Given the description of an element on the screen output the (x, y) to click on. 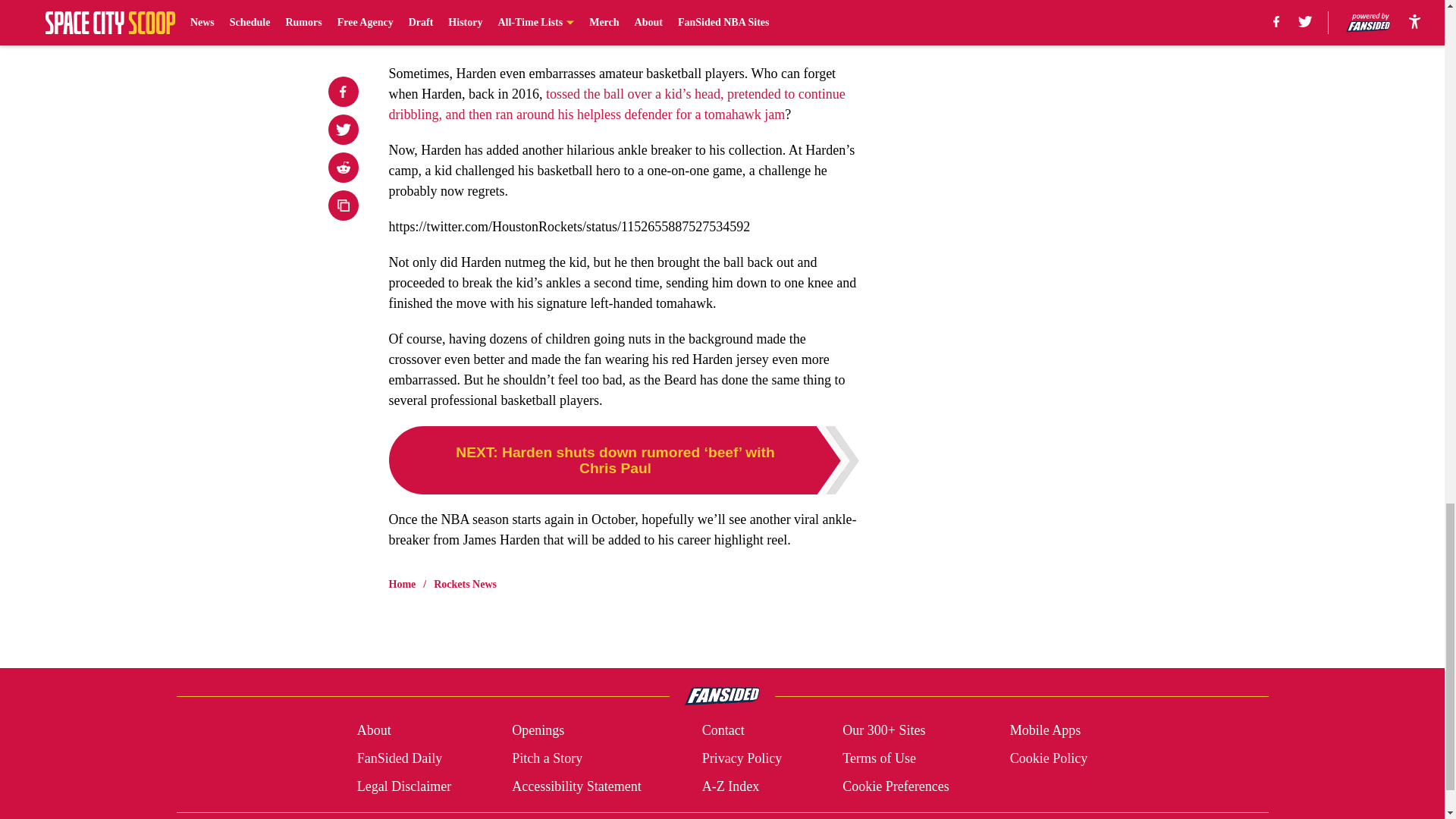
Mobile Apps (1045, 730)
Wesley Johnson (477, 17)
Openings (538, 730)
Rockets News (464, 584)
Home (401, 584)
Pitch a Story (547, 758)
FanSided Daily (399, 758)
sending Twitter into a frenzy (466, 37)
Contact (722, 730)
About (373, 730)
